Given the description of an element on the screen output the (x, y) to click on. 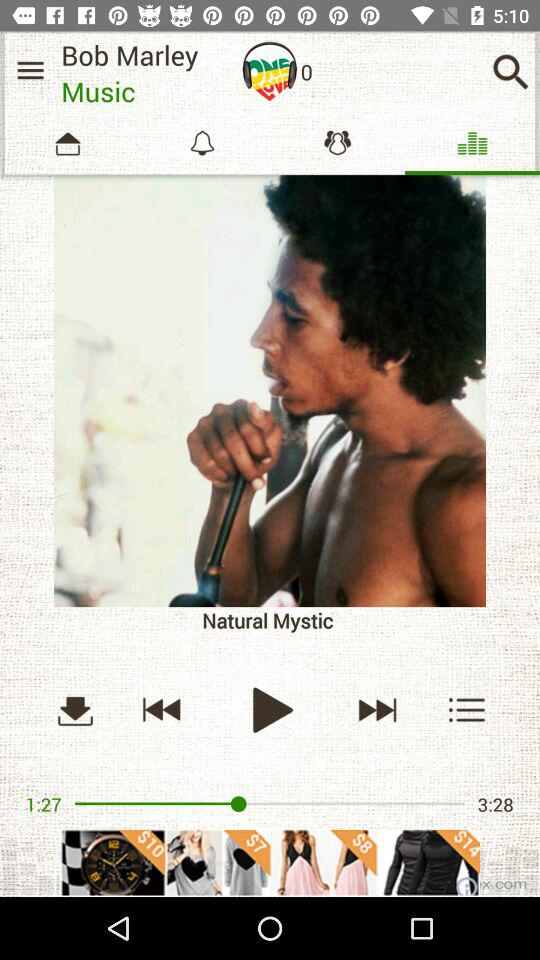
go to advertisement (270, 862)
